Given the description of an element on the screen output the (x, y) to click on. 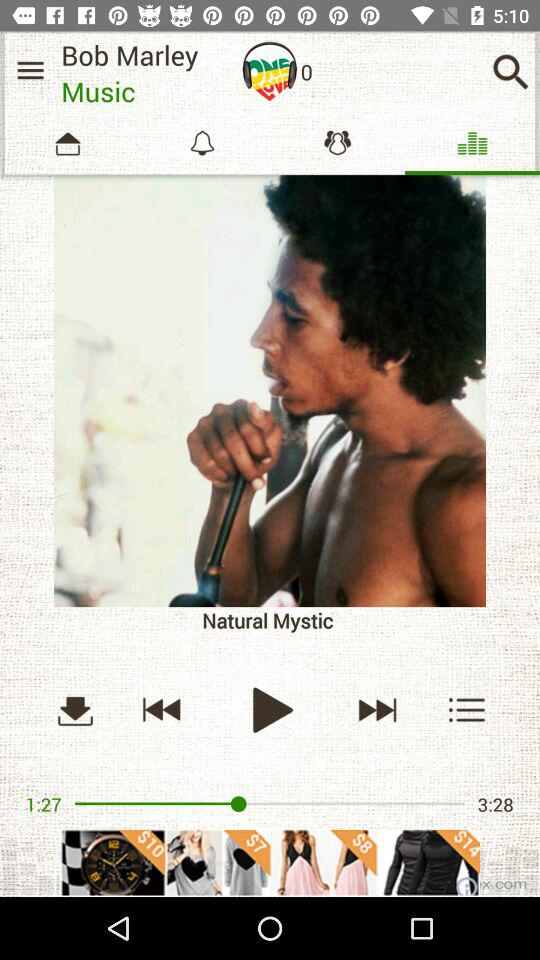
go to advertisement (270, 862)
